Given the description of an element on the screen output the (x, y) to click on. 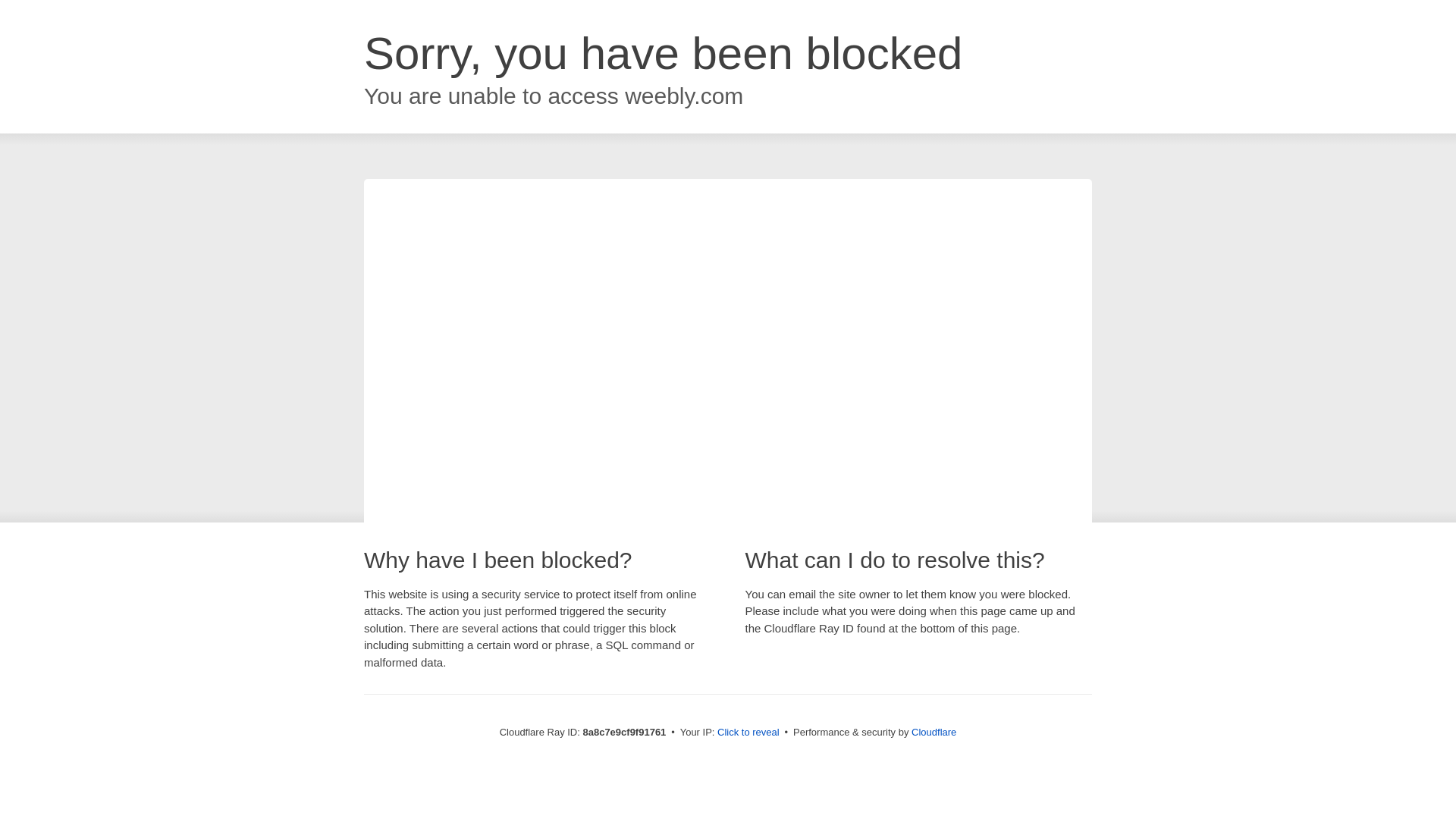
Click to reveal (747, 732)
Cloudflare (933, 731)
